Given the description of an element on the screen output the (x, y) to click on. 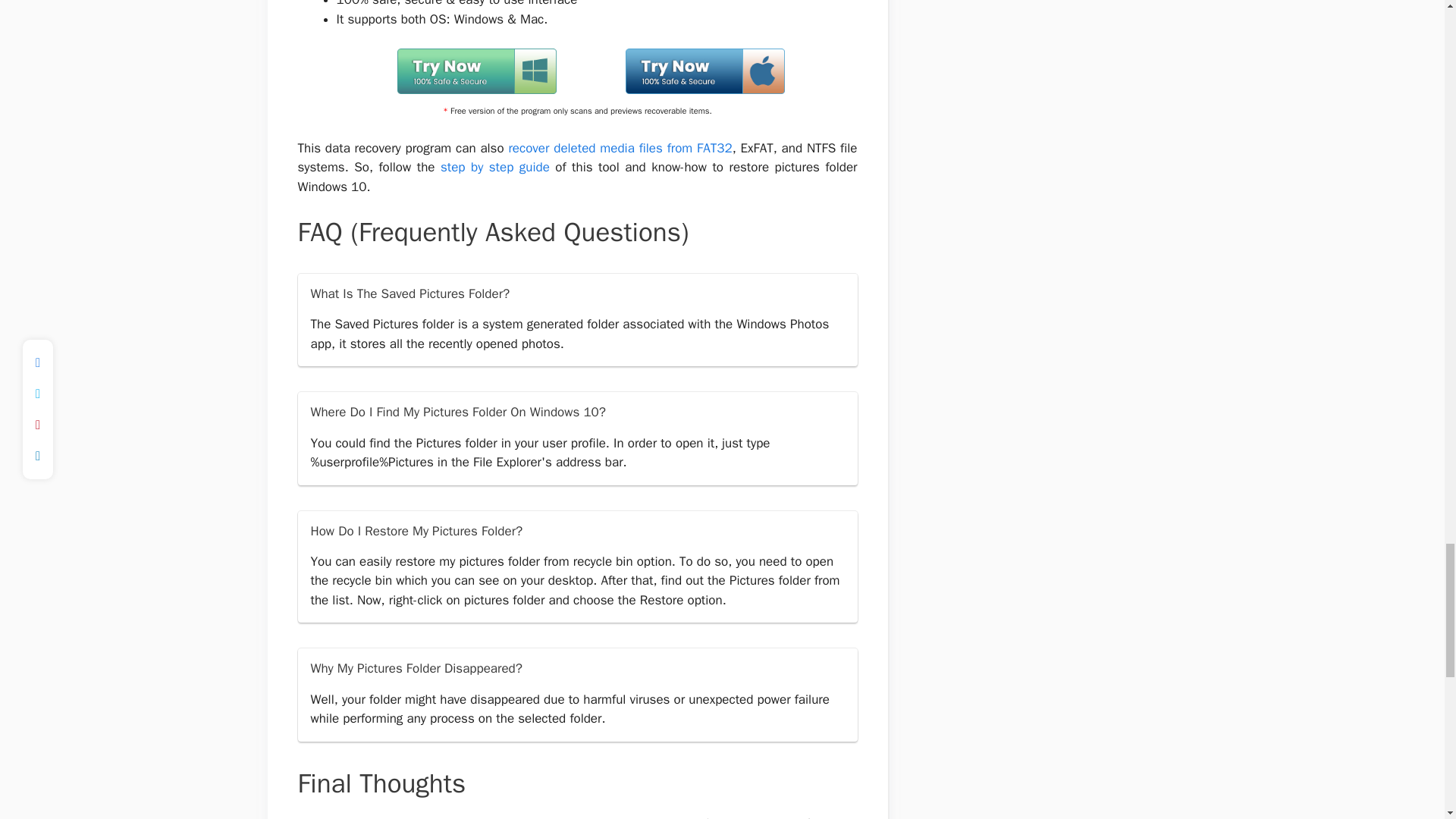
emid (672, 89)
recover deleted media files from FAT32 (620, 148)
emid (462, 89)
step by step guide (495, 166)
